Given the description of an element on the screen output the (x, y) to click on. 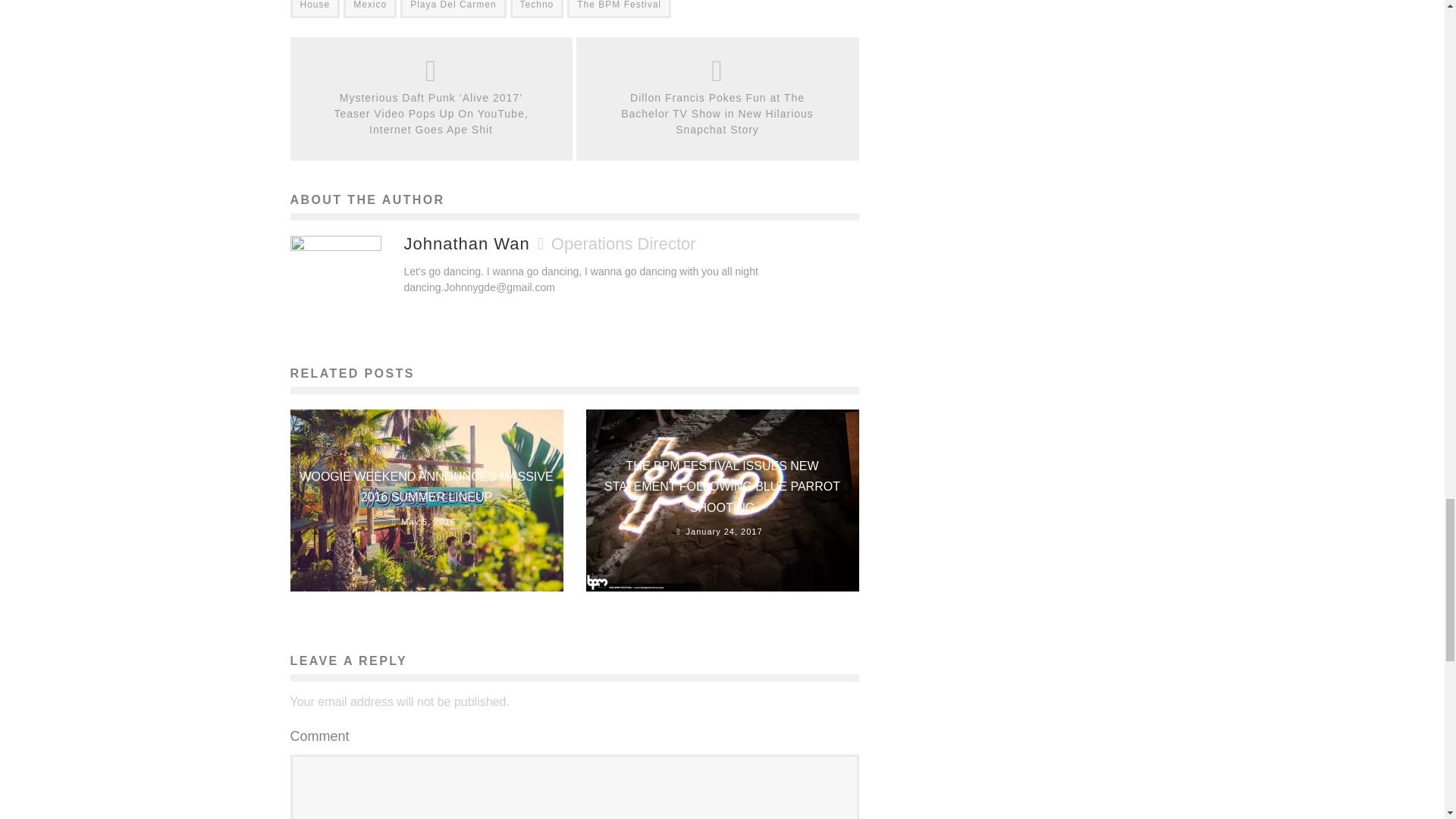
Playa Del Carmen (452, 9)
House (314, 9)
Mexico (369, 9)
Techno (537, 9)
